Given the description of an element on the screen output the (x, y) to click on. 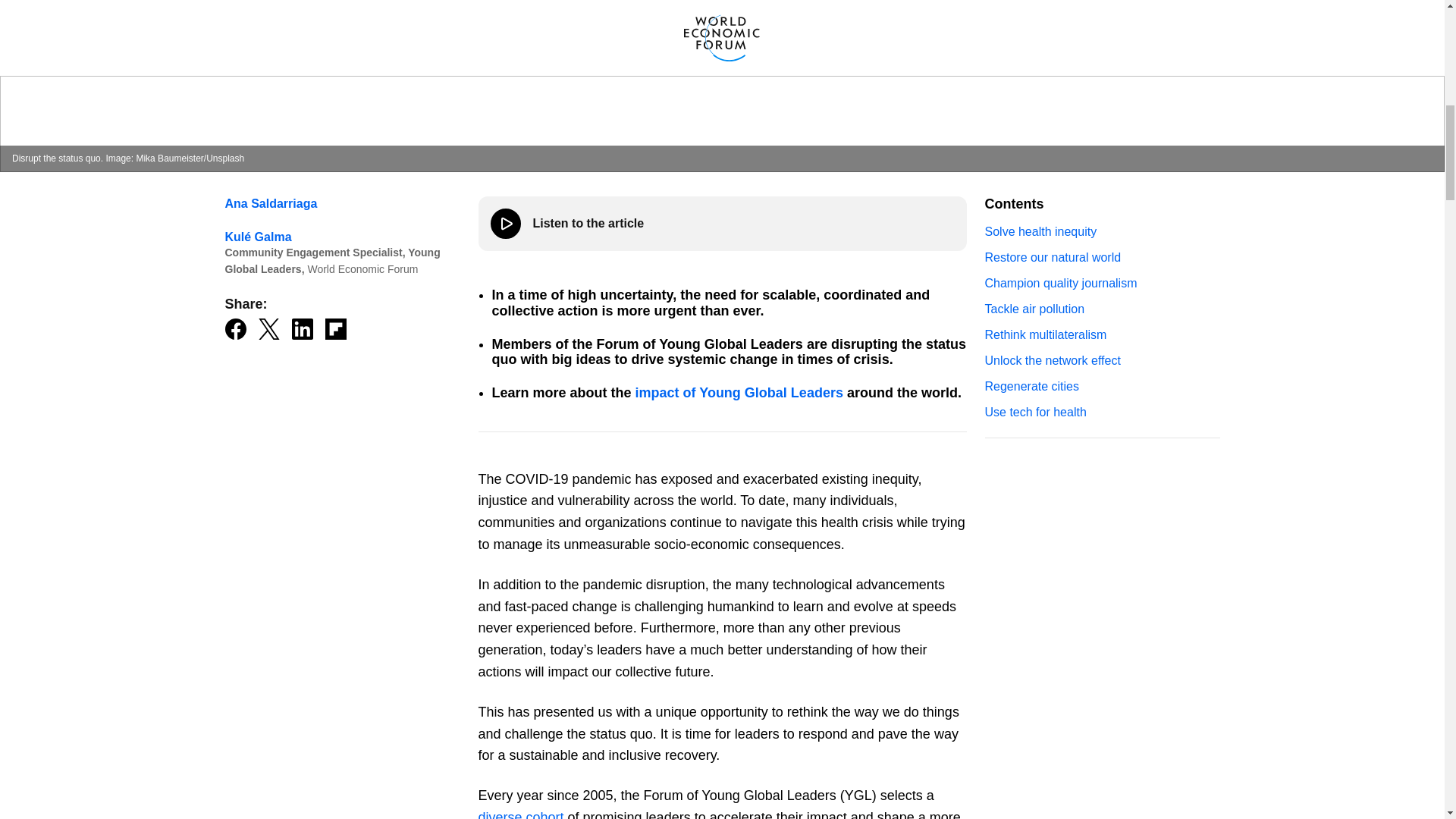
impact of Young Global Leaders (738, 392)
Tackle air pollution (1102, 309)
Champion quality journalism (1102, 283)
Rethink multilateralism (1102, 335)
Solve health inequity (1102, 232)
Ana Saldarriaga (270, 203)
Restore our natural world (1102, 257)
diverse cohort (520, 814)
Regenerate cities (1102, 386)
Unlock the network effect (1102, 360)
